Given the description of an element on the screen output the (x, y) to click on. 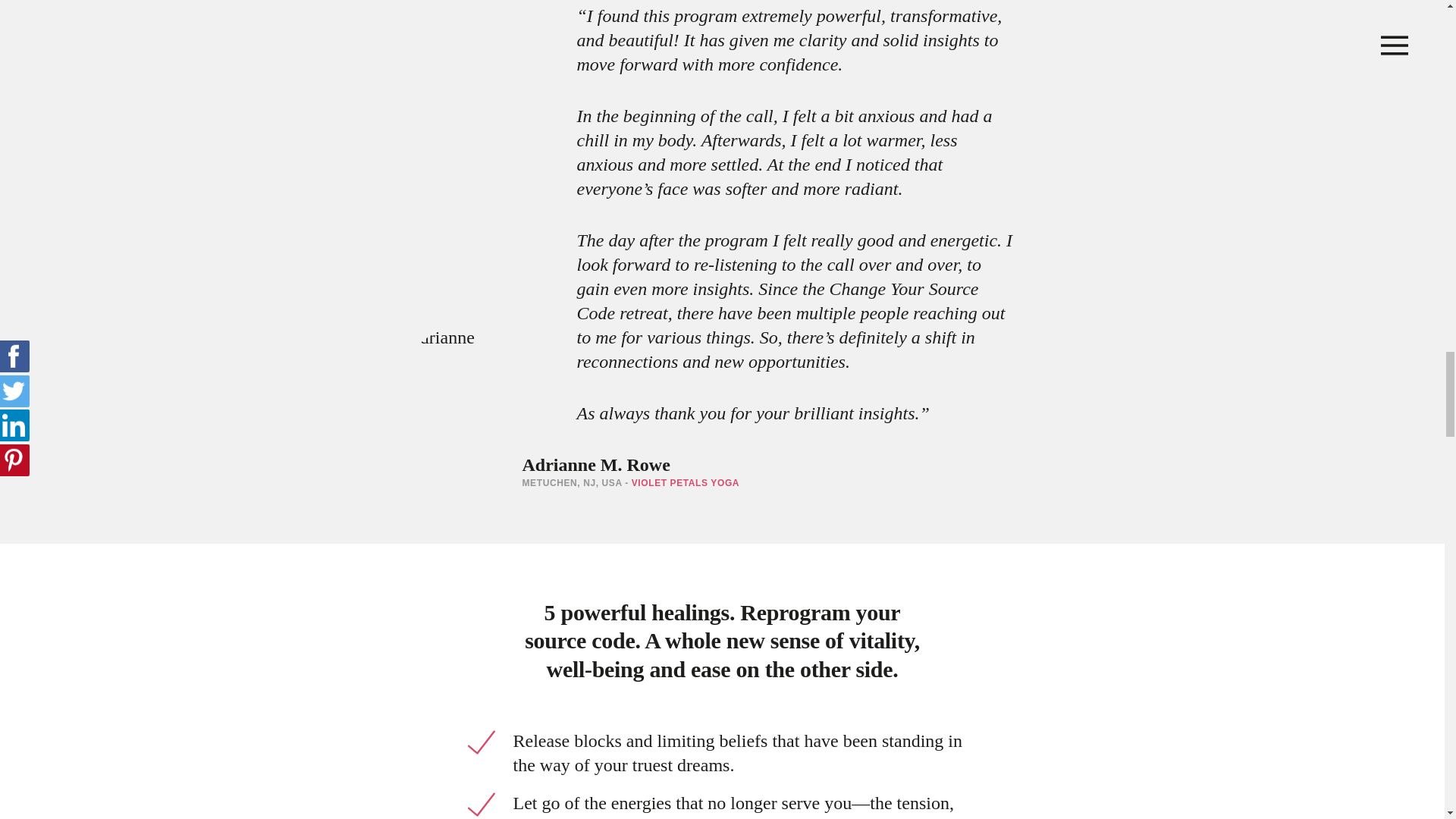
VIOLET PETALS YOGA (679, 719)
